Given the description of an element on the screen output the (x, y) to click on. 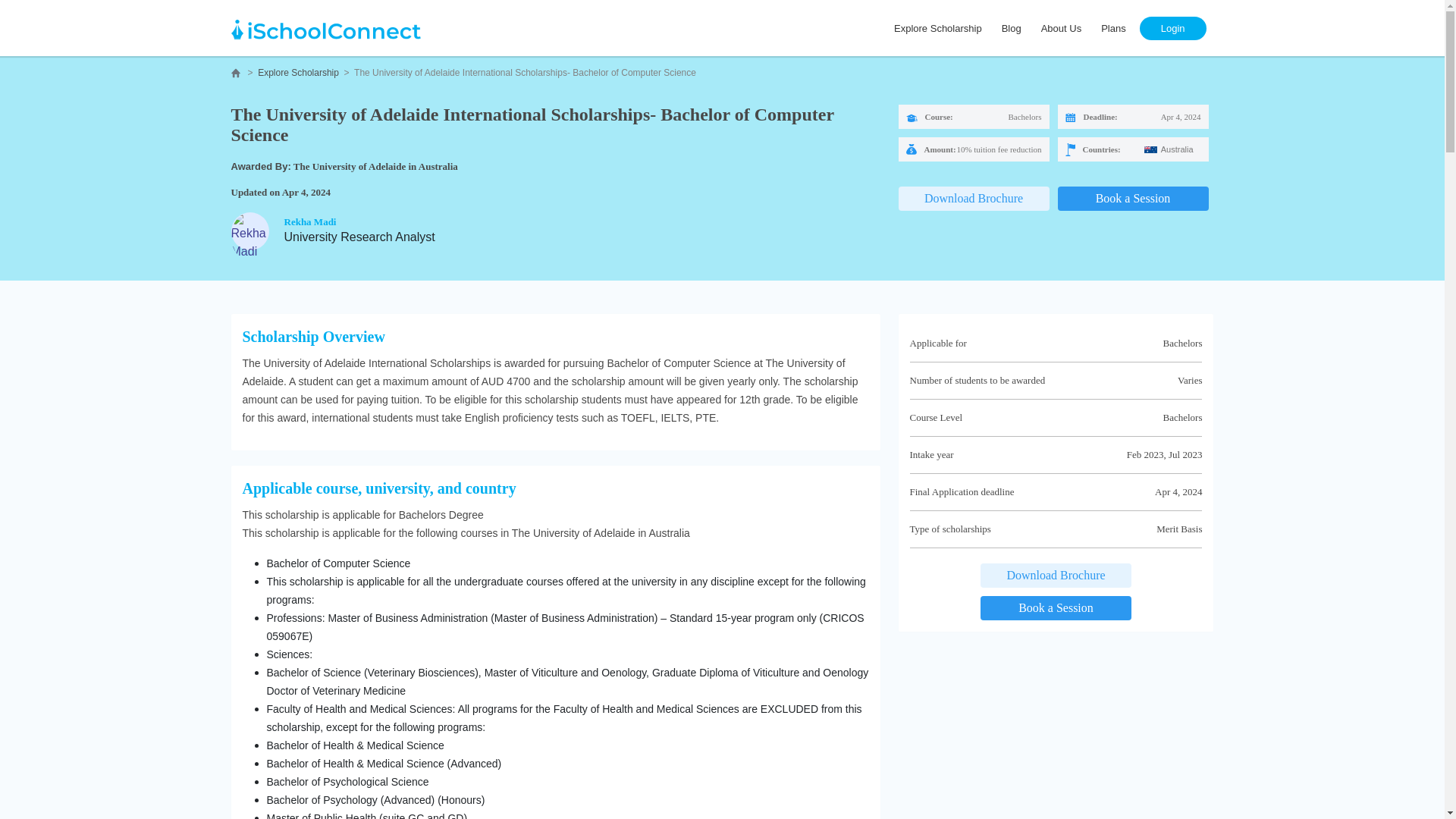
Blog (1011, 28)
Book a Session (1132, 198)
Plans (1113, 28)
Explore Scholarship (938, 28)
Blog (1011, 28)
Login (1172, 28)
Plans (1113, 28)
About Us (1061, 28)
About Us (1061, 28)
Login (1172, 28)
